Given the description of an element on the screen output the (x, y) to click on. 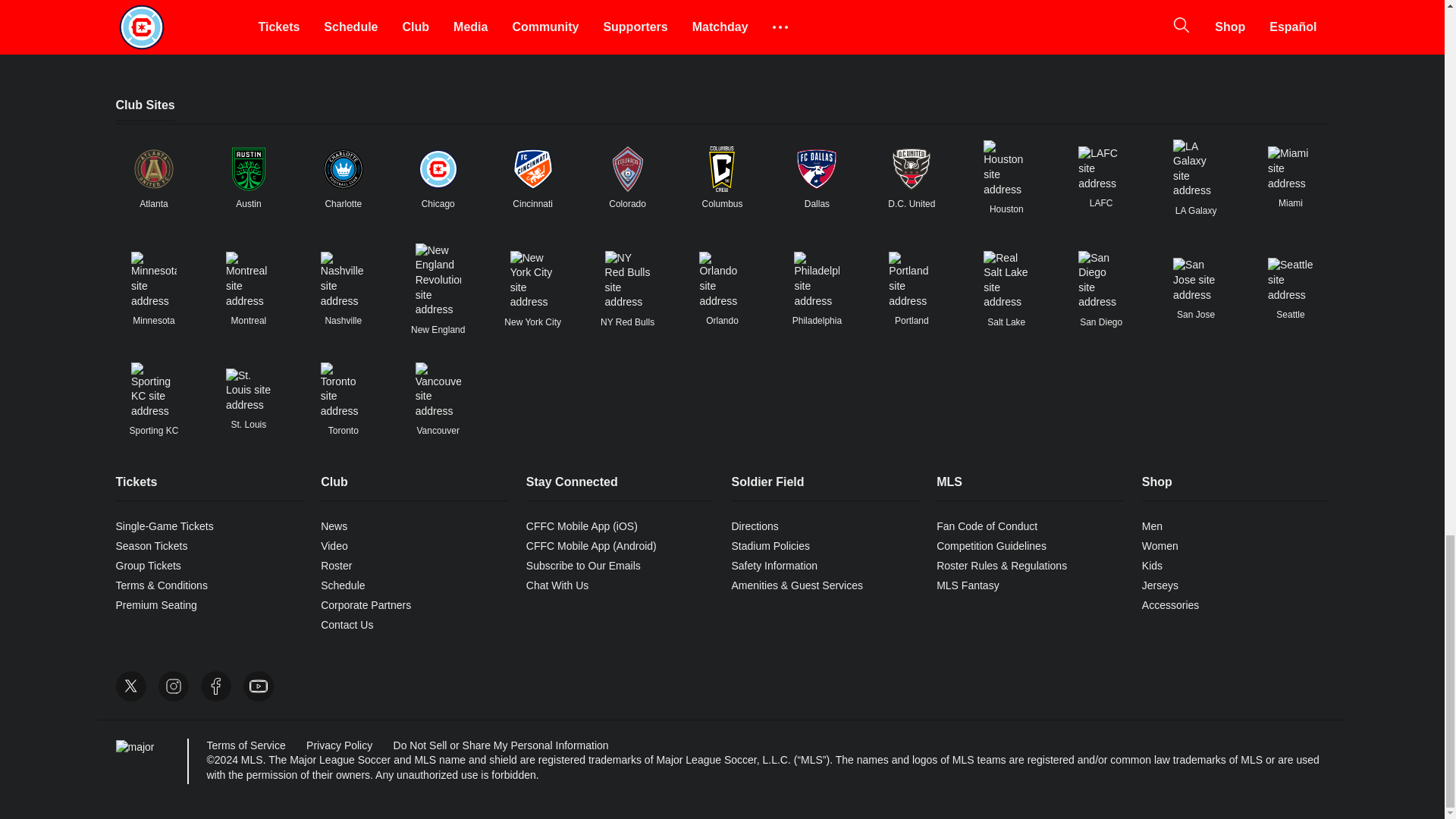
Link to Austin (247, 168)
Link to Charlotte (343, 168)
Link to Miami (1290, 168)
Link to Cincinnati (533, 168)
Link to Chicago (437, 168)
Link to LAFC (1101, 168)
Link to Atlanta (153, 168)
Link to D.C. United (911, 168)
Link to Columbus (721, 168)
Link to Colorado (627, 168)
